Given the description of an element on the screen output the (x, y) to click on. 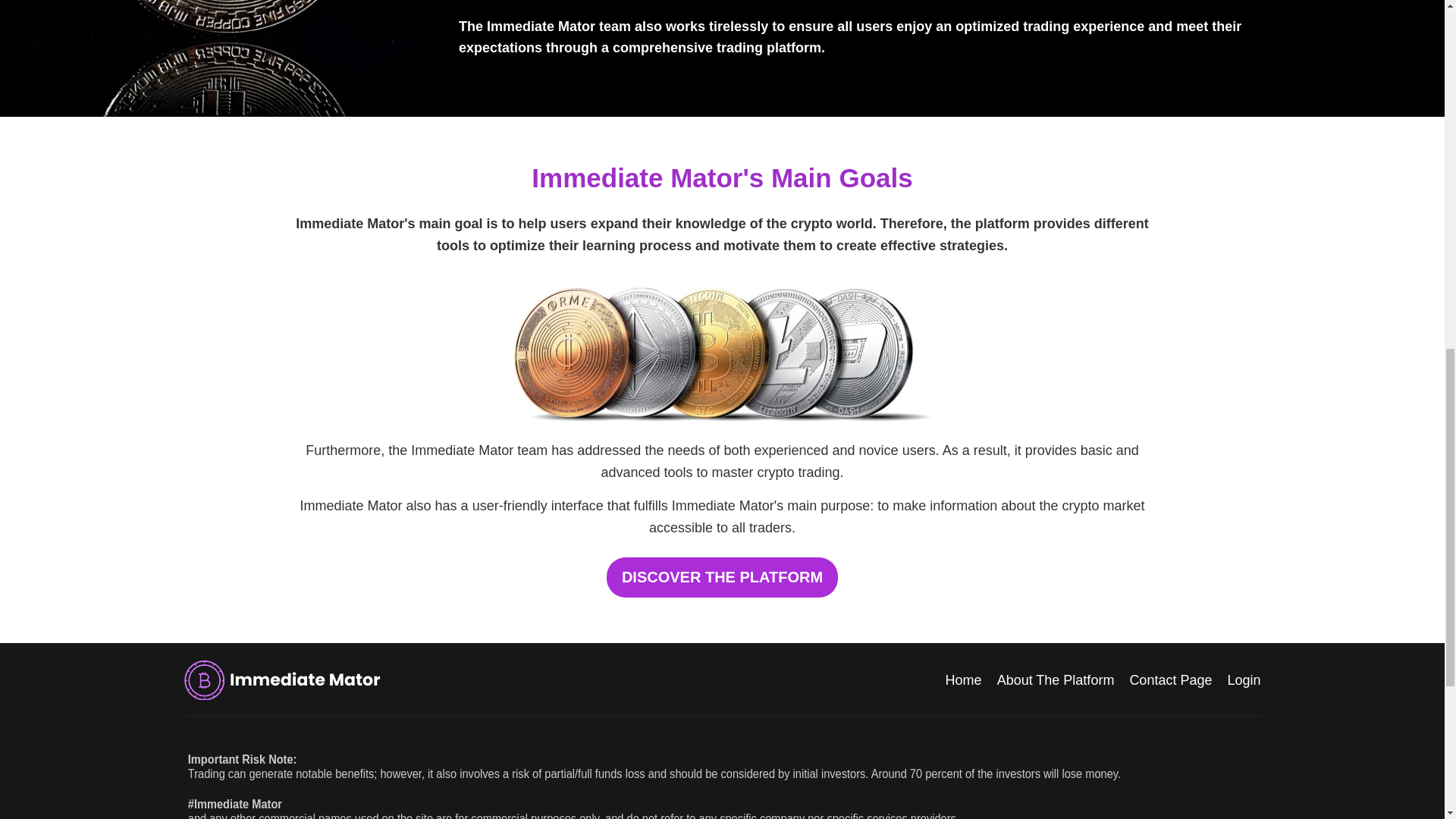
Home (962, 679)
Contact Page (1170, 679)
DISCOVER THE PLATFORM (722, 577)
Login (1243, 679)
About The Platform (1056, 679)
